Given the description of an element on the screen output the (x, y) to click on. 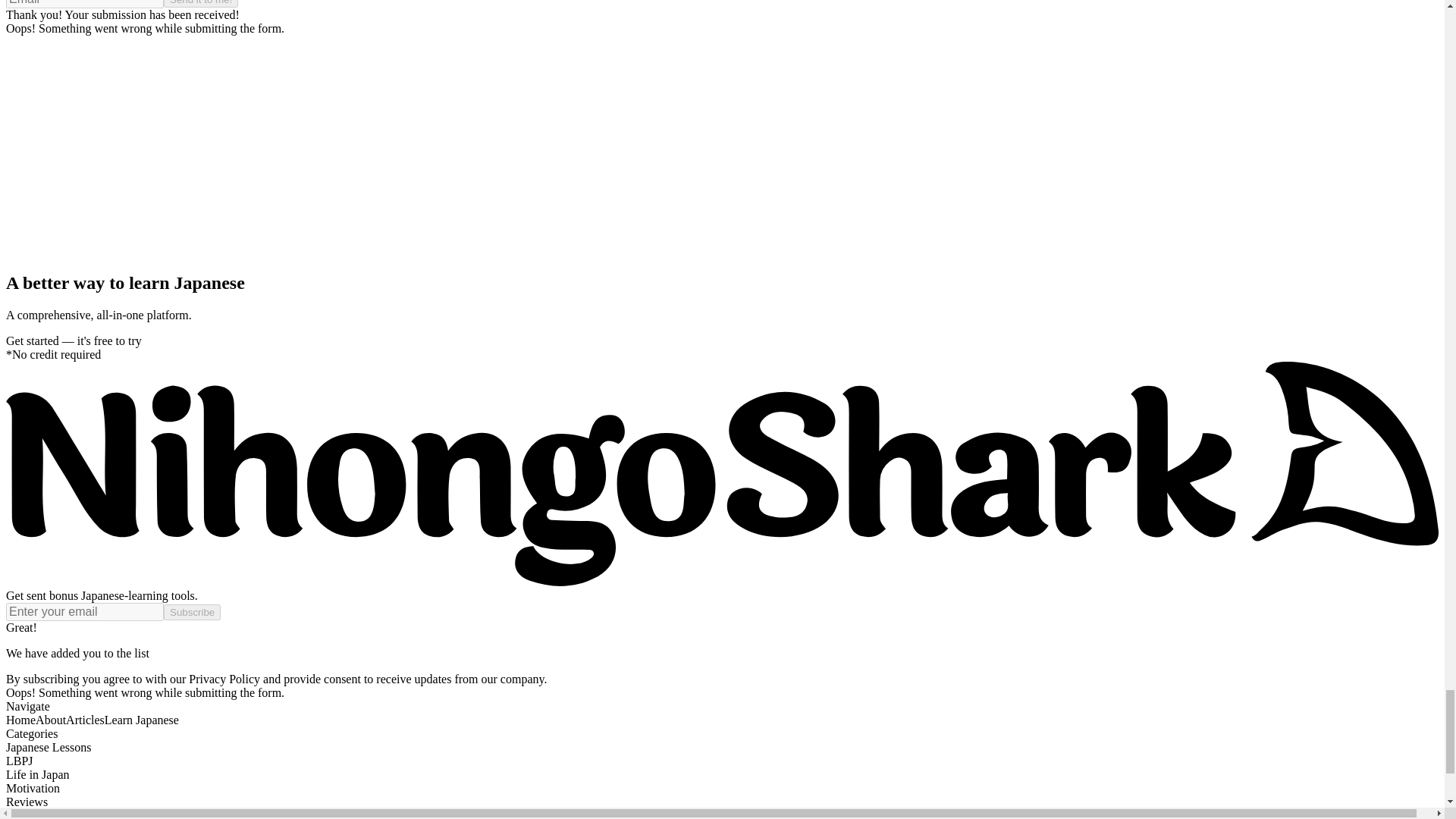
Life in Japan (37, 774)
LBPJ (19, 760)
Articles (84, 719)
Subscribe (192, 611)
Home (19, 719)
Learn Japanese (141, 719)
Send it to me! (200, 3)
Japanese Lessons (47, 747)
Reviews (26, 801)
Send it to me! (200, 3)
Subscribe (192, 611)
Study Materials (43, 814)
Privacy Policy (224, 678)
Motivation (32, 788)
About (49, 719)
